Given the description of an element on the screen output the (x, y) to click on. 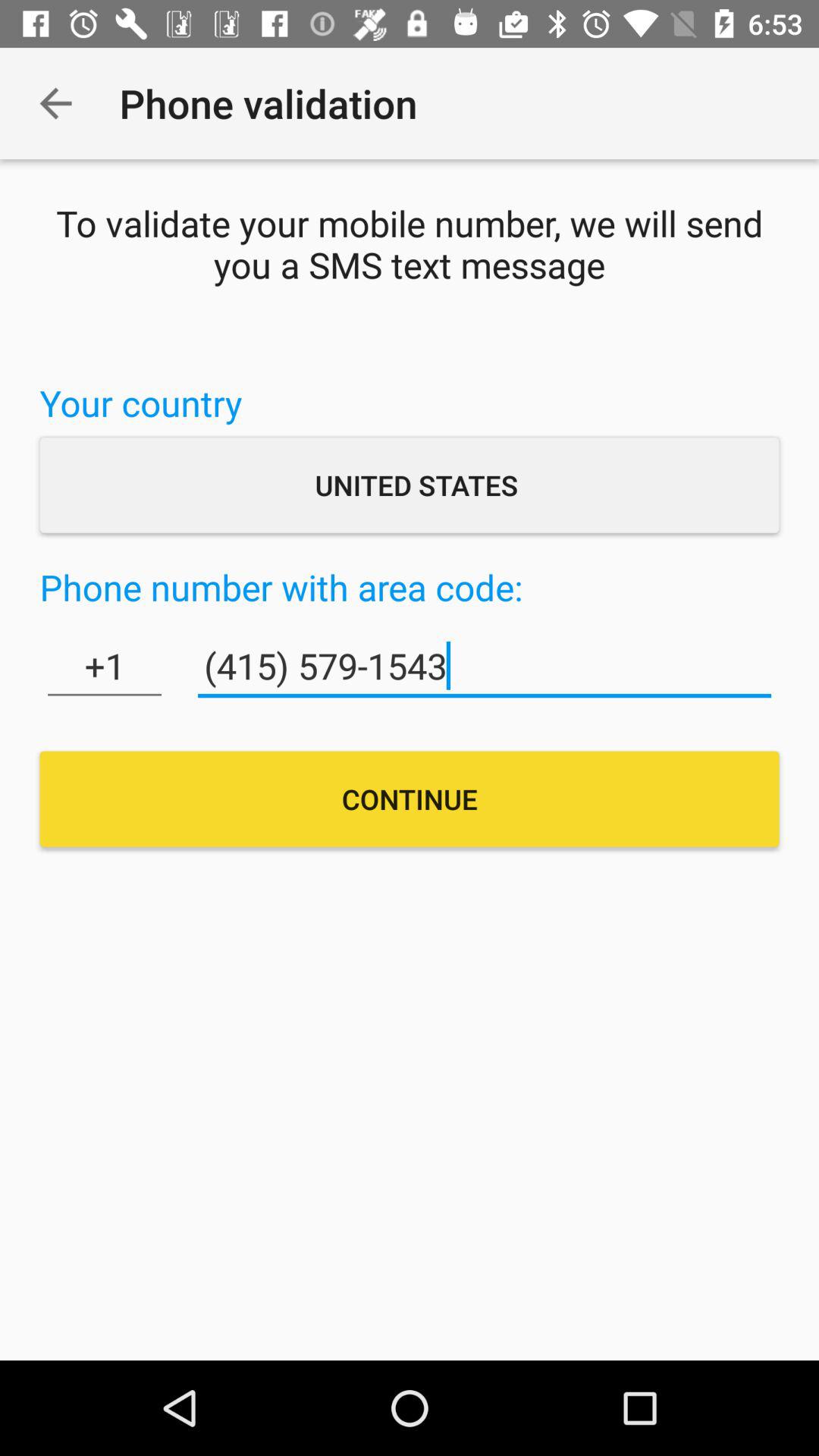
launch item to the right of the +1 icon (484, 666)
